Given the description of an element on the screen output the (x, y) to click on. 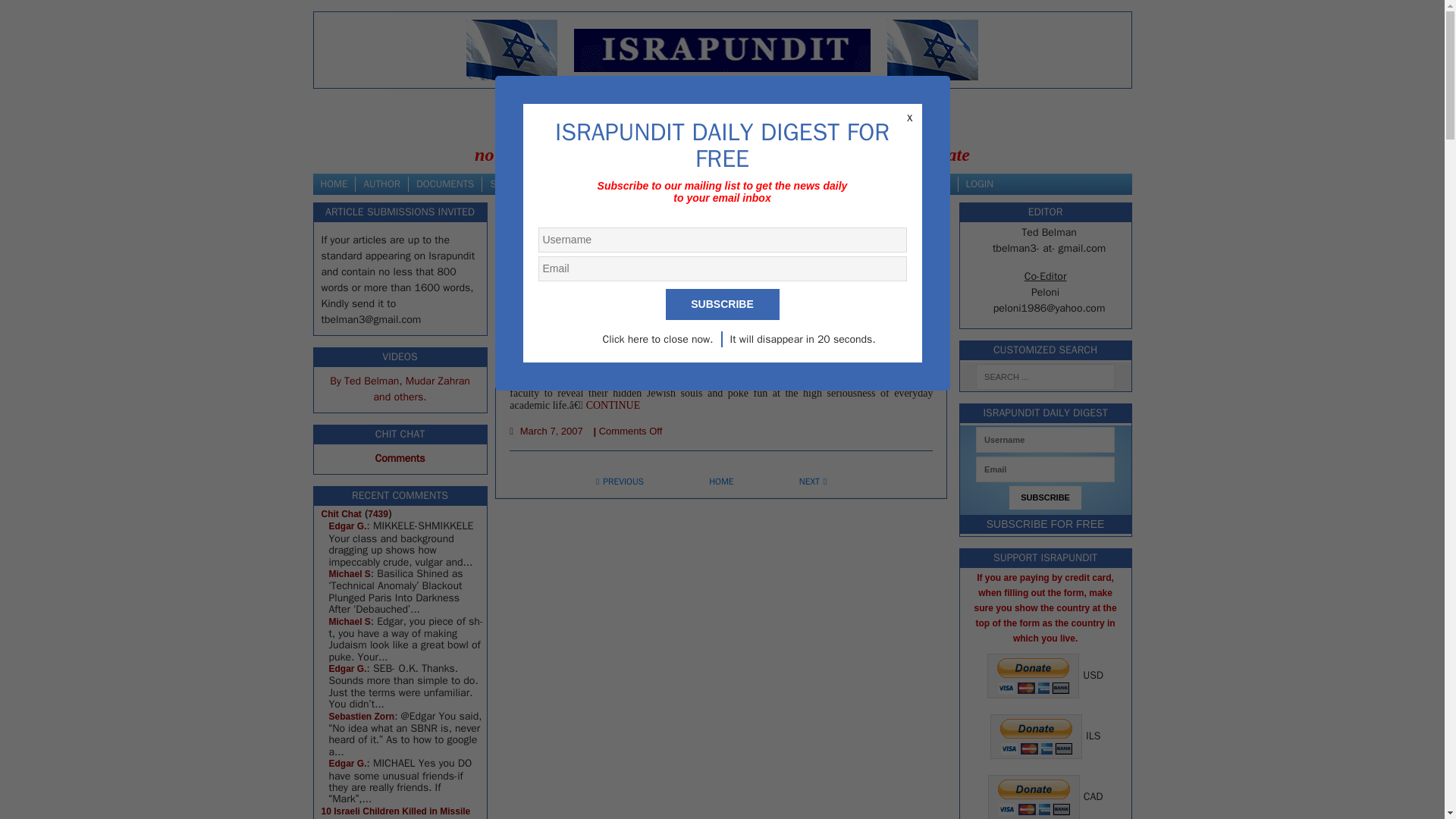
Chit Chat was posted on April 16, 2020 (341, 513)
SELECTED ARTICLES (535, 183)
Chit Chat, April 16, 2020 (361, 716)
DOCUMENTS (445, 183)
Chit Chat, April 16, 2020 (347, 763)
REGISTER (928, 183)
Chit Chat, April 16, 2020 (347, 525)
HOME (334, 183)
ISRAPUNDIT (722, 49)
Subscribe (721, 304)
There are 7439 comments to this posting (378, 513)
Subscribe (1045, 497)
CLIMATE (678, 183)
COVID (823, 183)
Chit Chat, April 16, 2020 (350, 620)
